Given the description of an element on the screen output the (x, y) to click on. 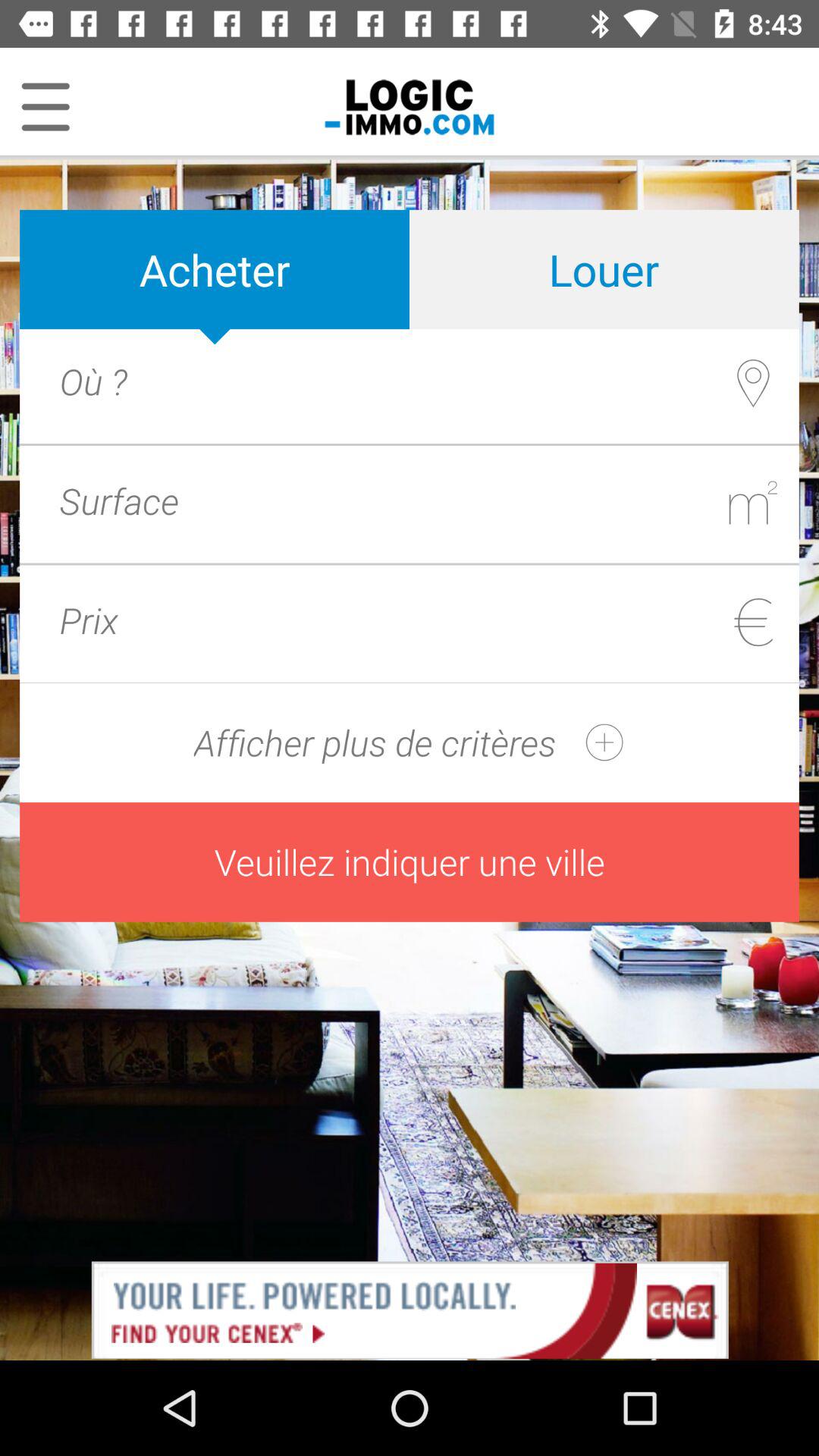
image link to advertisement (409, 1308)
